Given the description of an element on the screen output the (x, y) to click on. 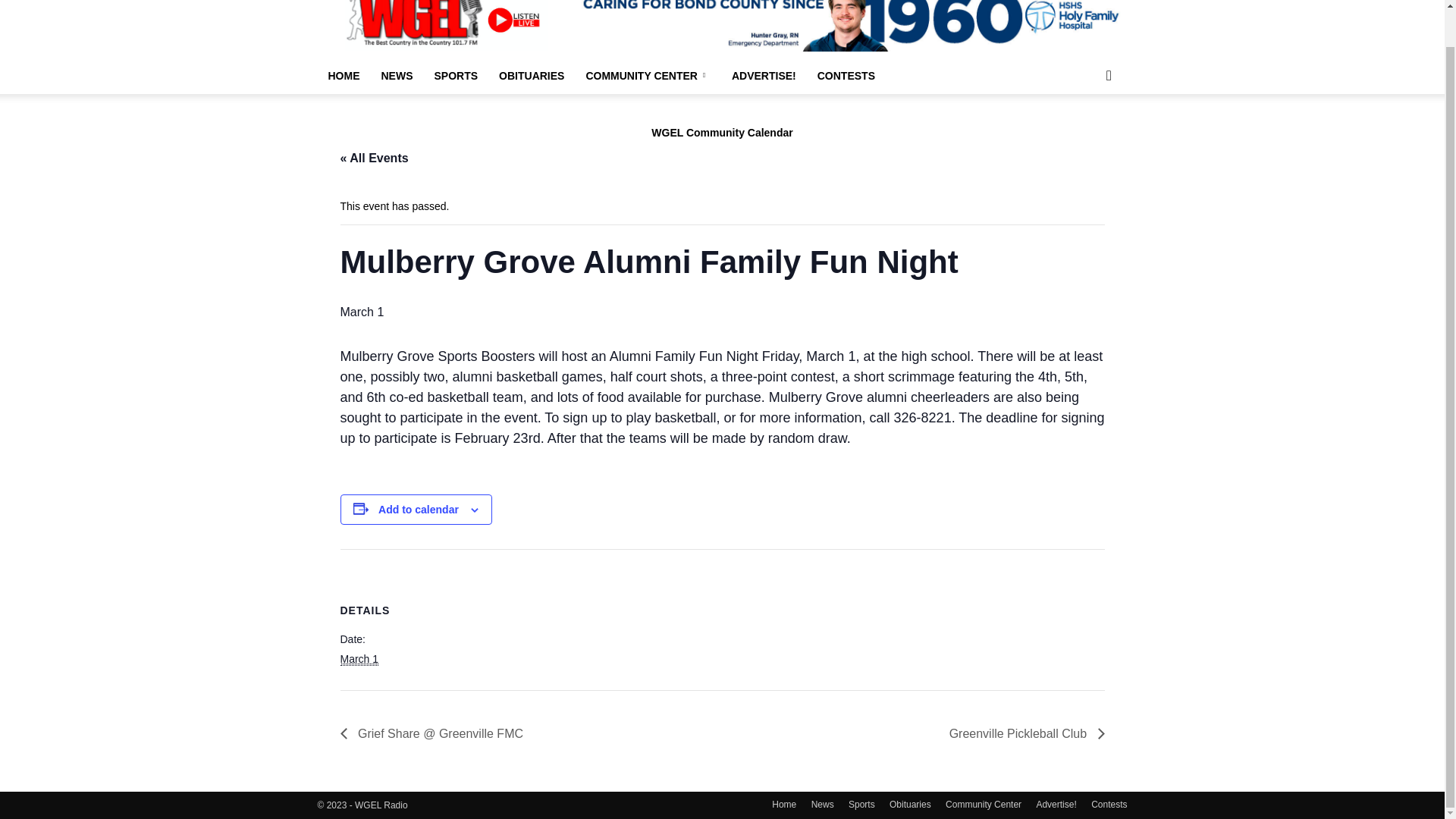
2024-03-01 (358, 658)
COMMUNITY CENTER (647, 75)
SPORTS (455, 75)
HOME (343, 75)
ADVERTISE! (763, 75)
OBITUARIES (531, 75)
NEWS (396, 75)
WGEL Logo (446, 25)
Search (1085, 136)
Add to calendar (418, 509)
CONTESTS (845, 75)
